Given the description of an element on the screen output the (x, y) to click on. 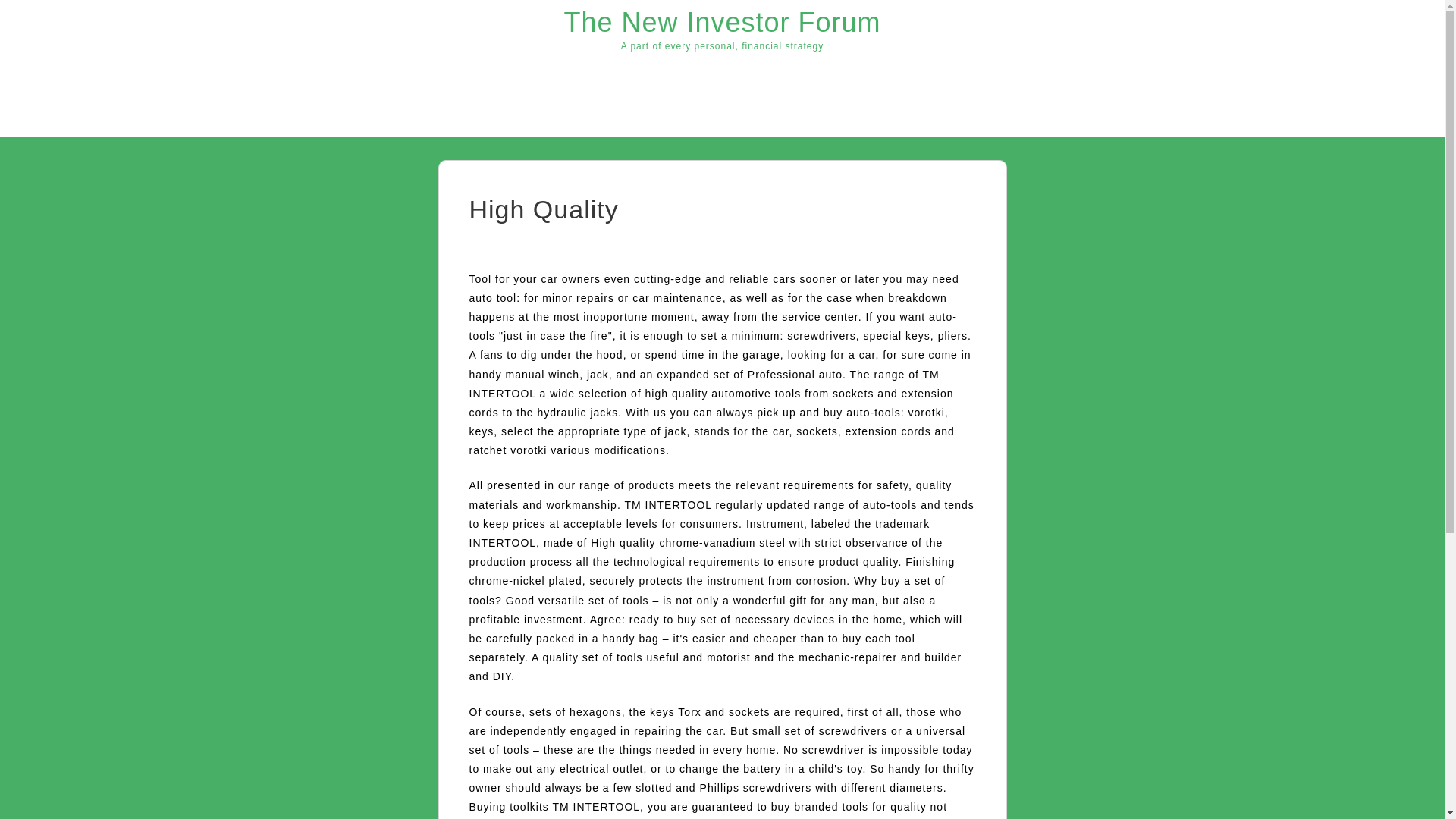
The New Investor Forum (721, 21)
High Quality (542, 208)
